Given the description of an element on the screen output the (x, y) to click on. 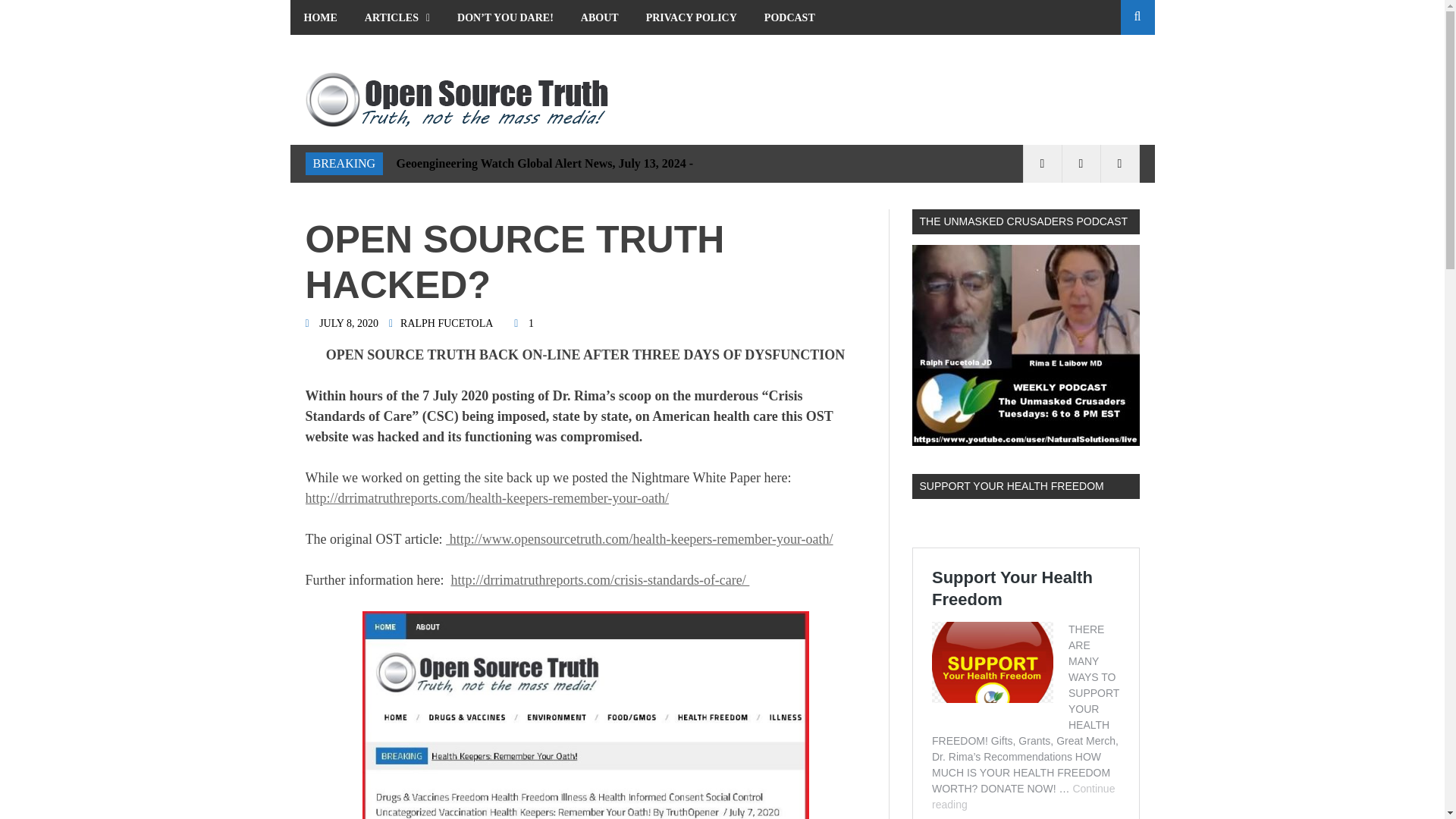
PRIVACY POLICY (691, 17)
HOME (319, 17)
MEMES (322, 52)
The Unmasked Crusaders Weekly Podcast (1024, 344)
ABOUT (599, 17)
PODCAST (789, 17)
ARTICLES (397, 17)
